Given the description of an element on the screen output the (x, y) to click on. 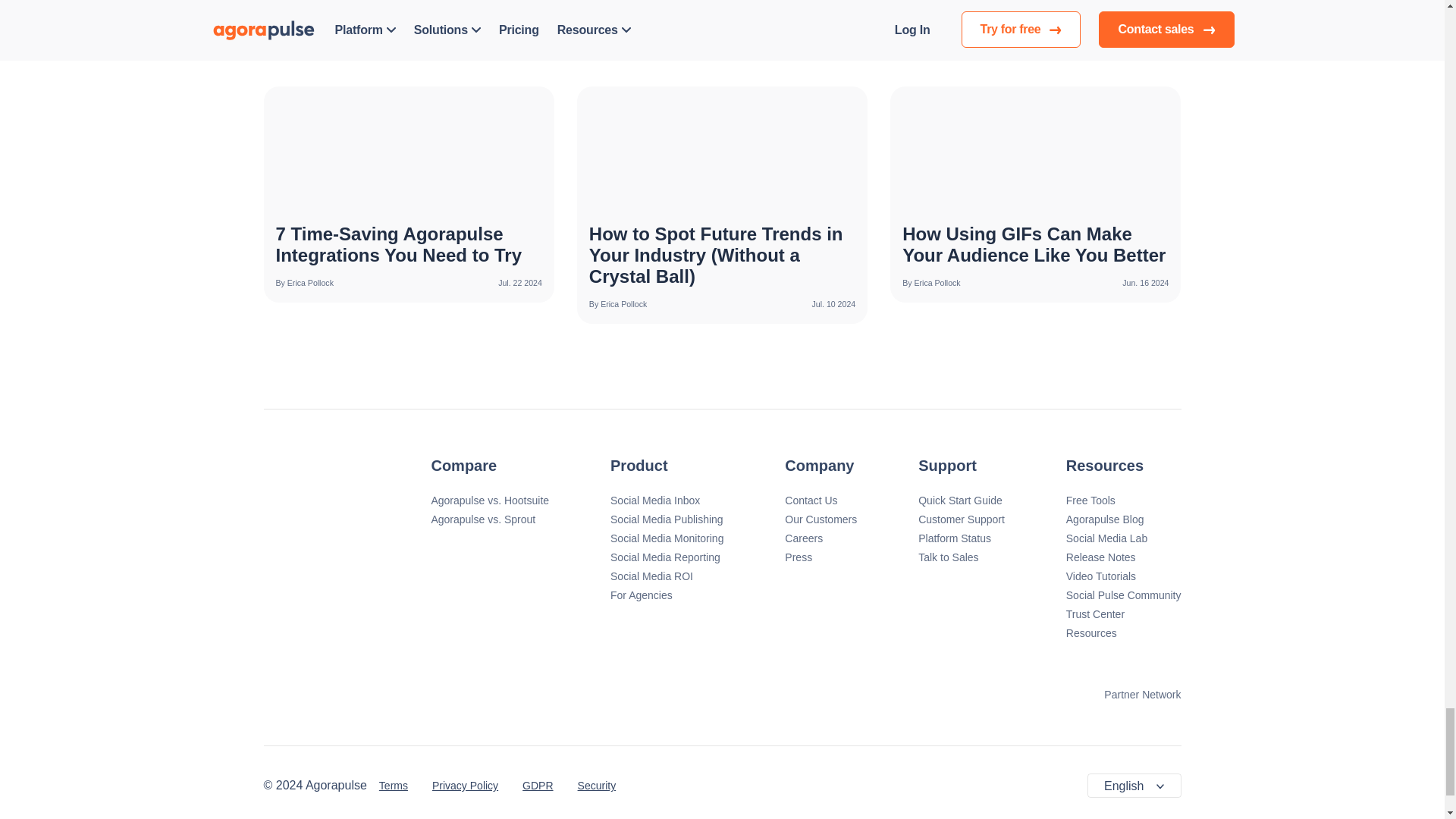
Agorapulse TikTok profile (844, 784)
TikTok Marketing Partner badge (956, 694)
Agorapulse LinkedIn company page (811, 784)
App Google Play (334, 693)
AWS Partner Network (1131, 694)
Agorapulse Instagram profile (676, 784)
Meta Business Partner (1039, 694)
Agorapulse Pinterest account (777, 784)
Agorapulse Facebook page (642, 784)
App Store (479, 693)
Agorapulse YouTube channel (744, 784)
